Given the description of an element on the screen output the (x, y) to click on. 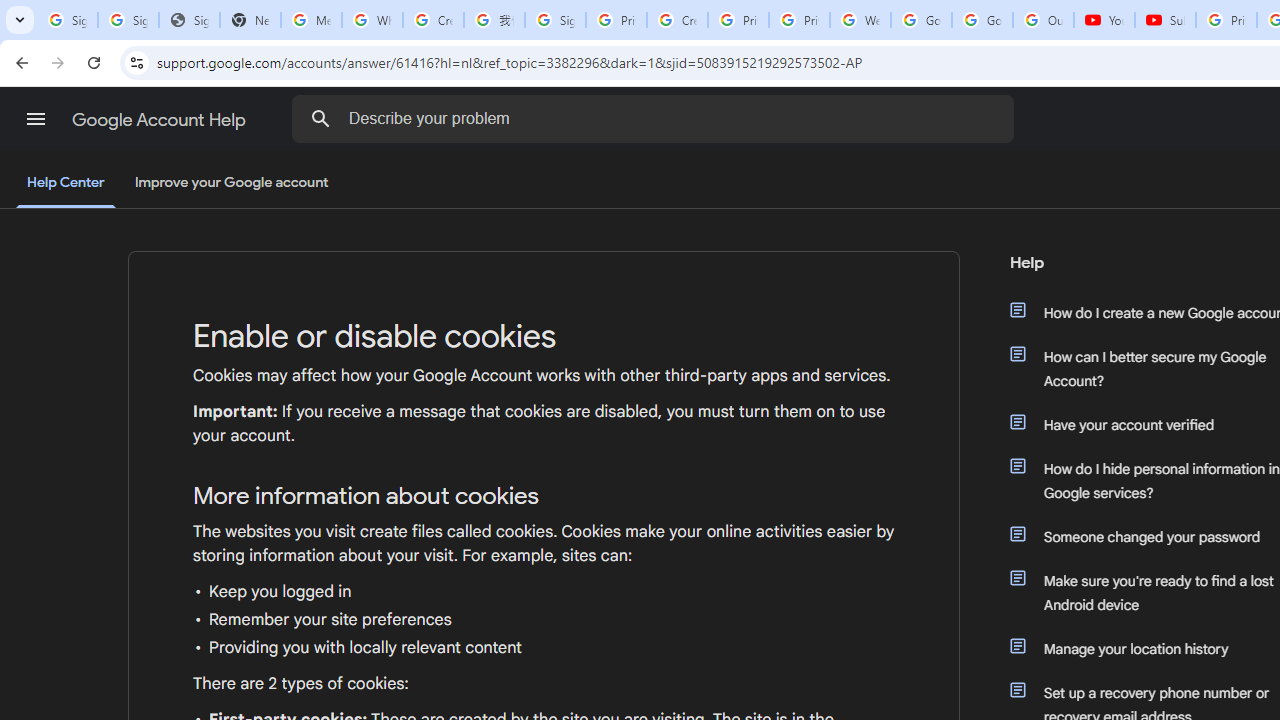
Create your Google Account (676, 20)
New Tab (250, 20)
Search the Help Center (320, 118)
Welcome to My Activity (859, 20)
